Given the description of an element on the screen output the (x, y) to click on. 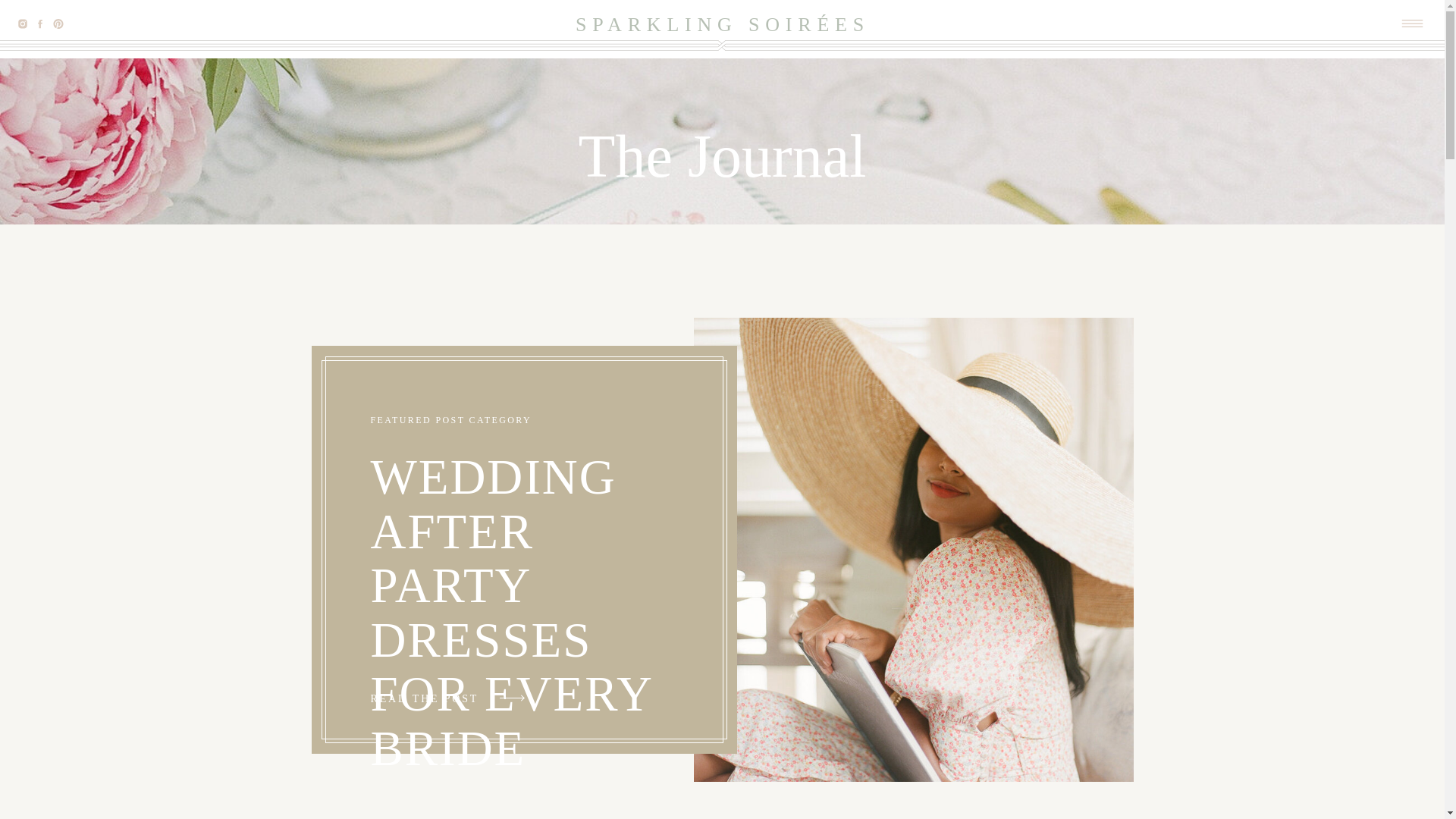
READ THE POST (432, 698)
